Given the description of an element on the screen output the (x, y) to click on. 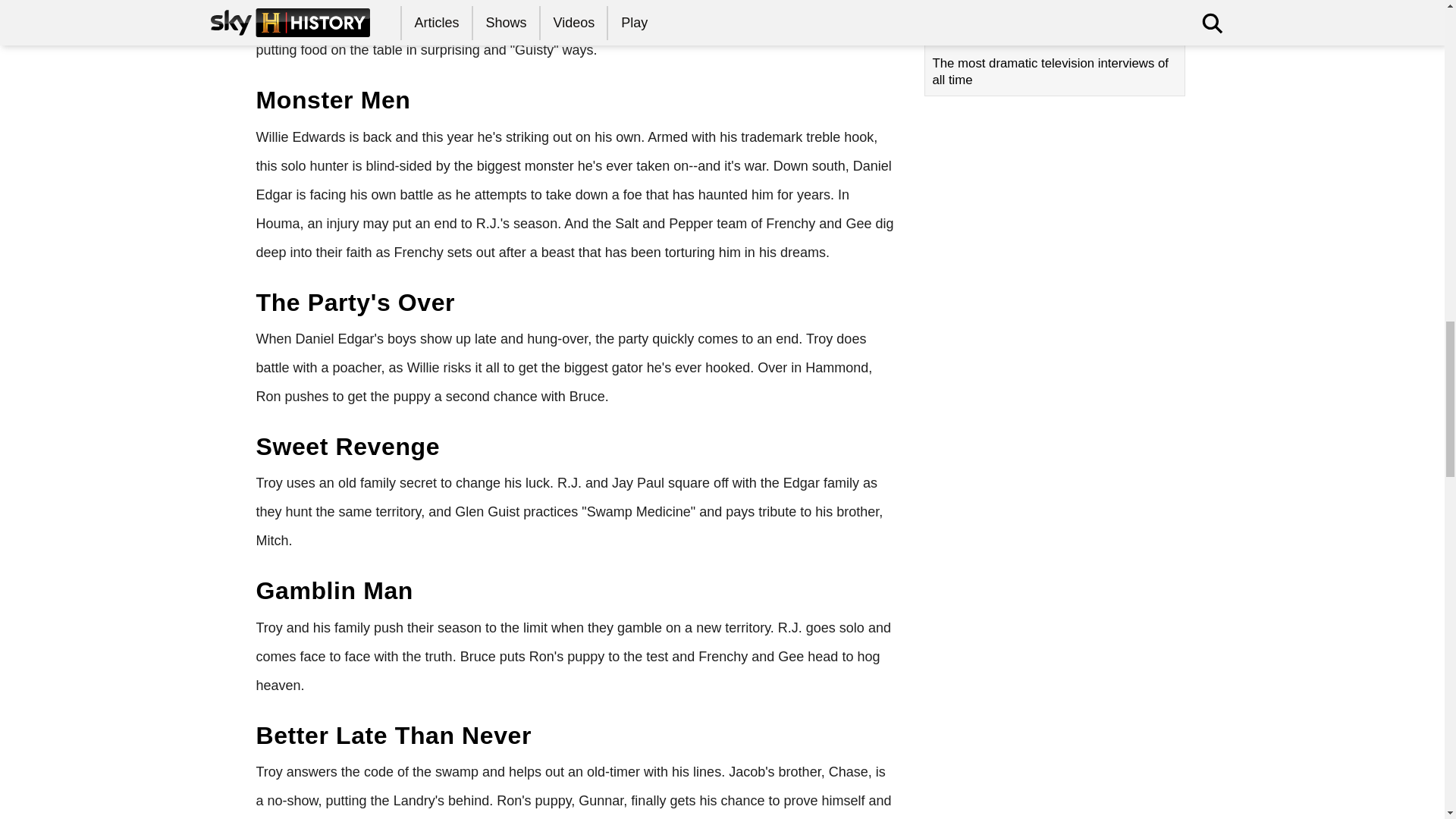
The most dramatic television interviews of all time (1054, 53)
